Given the description of an element on the screen output the (x, y) to click on. 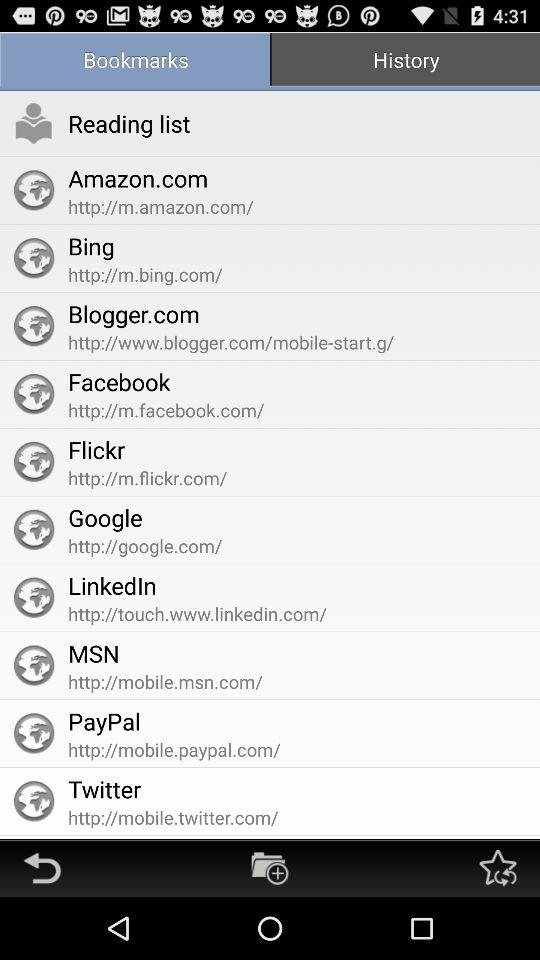
select the item above http www blogger (405, 61)
